Given the description of an element on the screen output the (x, y) to click on. 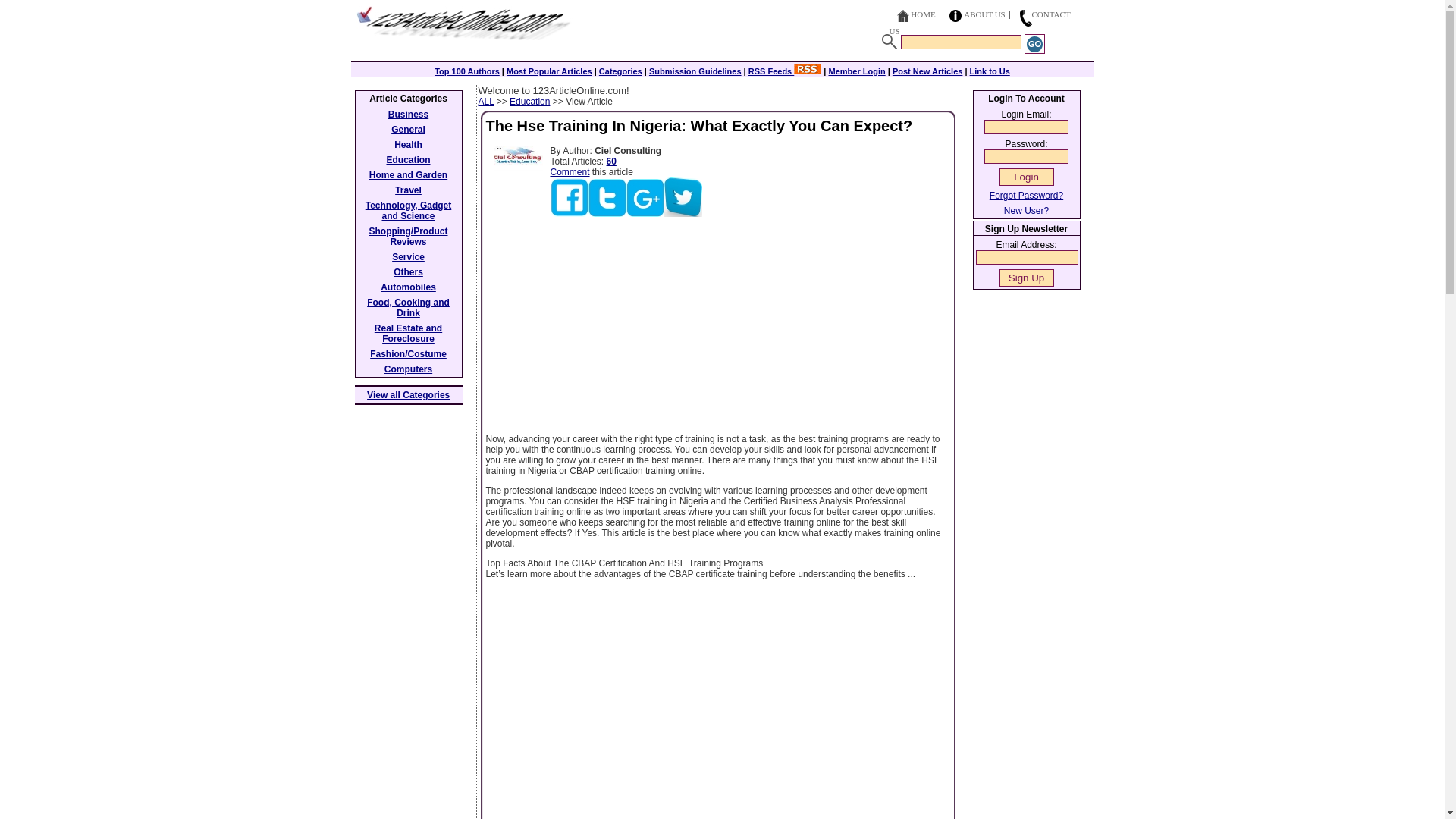
Categories (620, 71)
Comment (569, 172)
Education (529, 101)
Submission Guidelines (695, 71)
ALL (485, 101)
Top 100 Authors (466, 71)
Most Popular Articles (549, 71)
60 (611, 161)
